Given the description of an element on the screen output the (x, y) to click on. 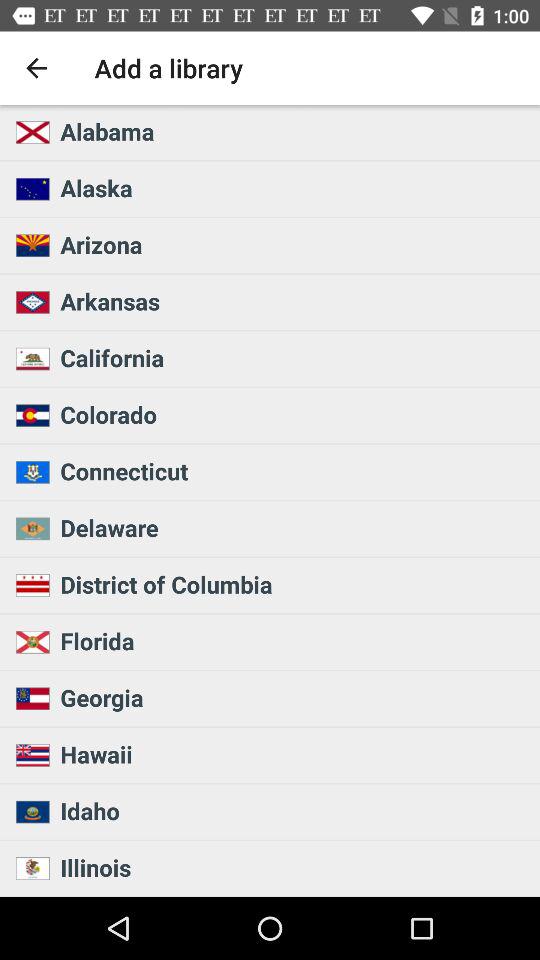
open the arizona (294, 244)
